Given the description of an element on the screen output the (x, y) to click on. 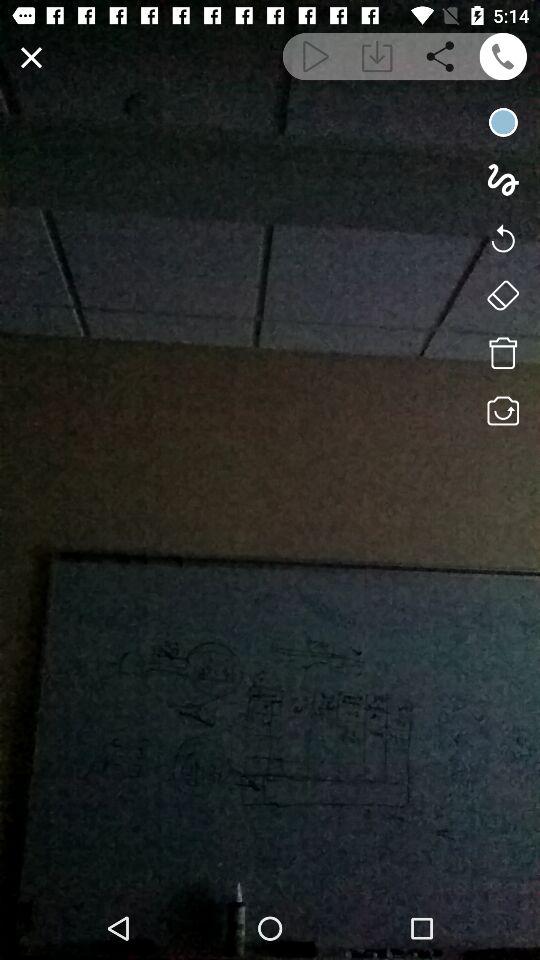
delete photo (502, 353)
